Given the description of an element on the screen output the (x, y) to click on. 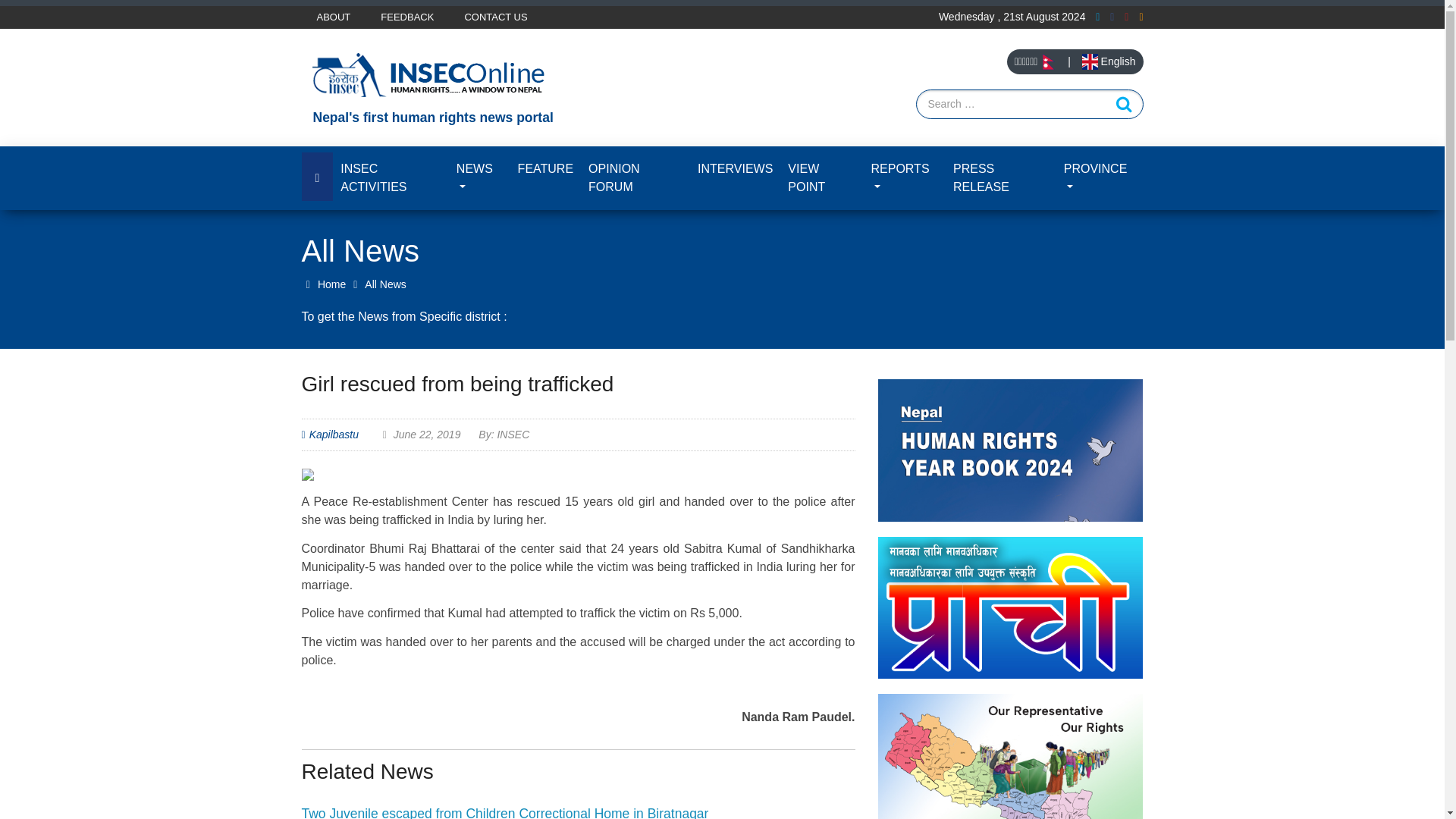
All News (385, 284)
PRESS RELEASE (1000, 177)
REPORTS (903, 177)
Interviews (735, 168)
English (1108, 61)
FEEDBACK (406, 16)
Home (323, 284)
Feedback (406, 16)
Kapilbastu (333, 434)
